Given the description of an element on the screen output the (x, y) to click on. 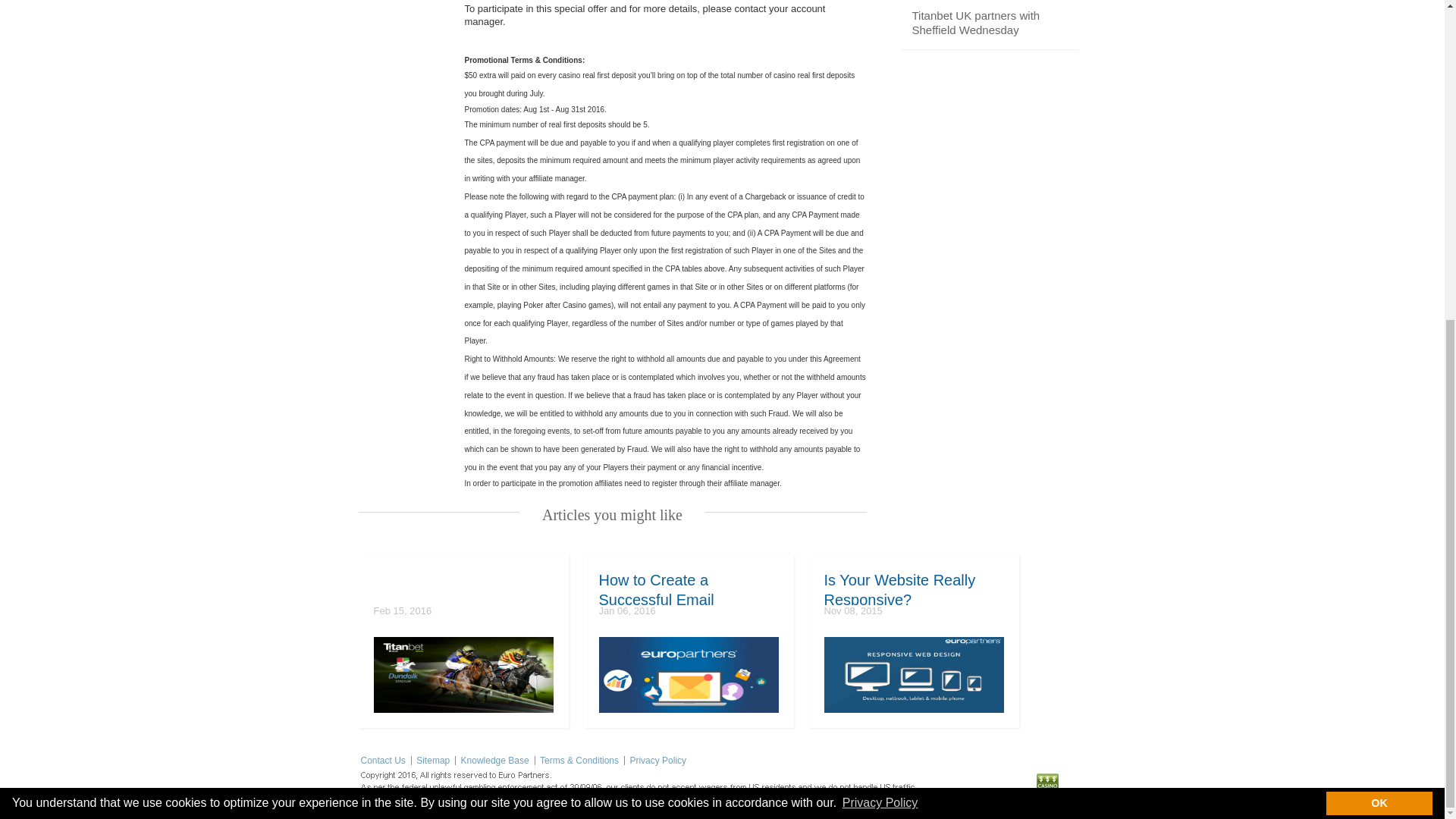
Sitemap (432, 760)
How to Create a Successful Email Marketing Campaign (688, 587)
Privacy Policy (656, 760)
Contact Us (383, 760)
successful email marketing campaigns  (688, 674)
Is Your Website Really Responsive? (913, 674)
Privacy Policy (880, 284)
Is Your Website Really Responsive? (913, 587)
OK (1379, 284)
Titanbet sponsors all-weather racing venue Dundalk Stadium (462, 674)
Knowledge Base (495, 760)
Titanbet UK partners with Sheffield Wednesday (975, 22)
